Given the description of an element on the screen output the (x, y) to click on. 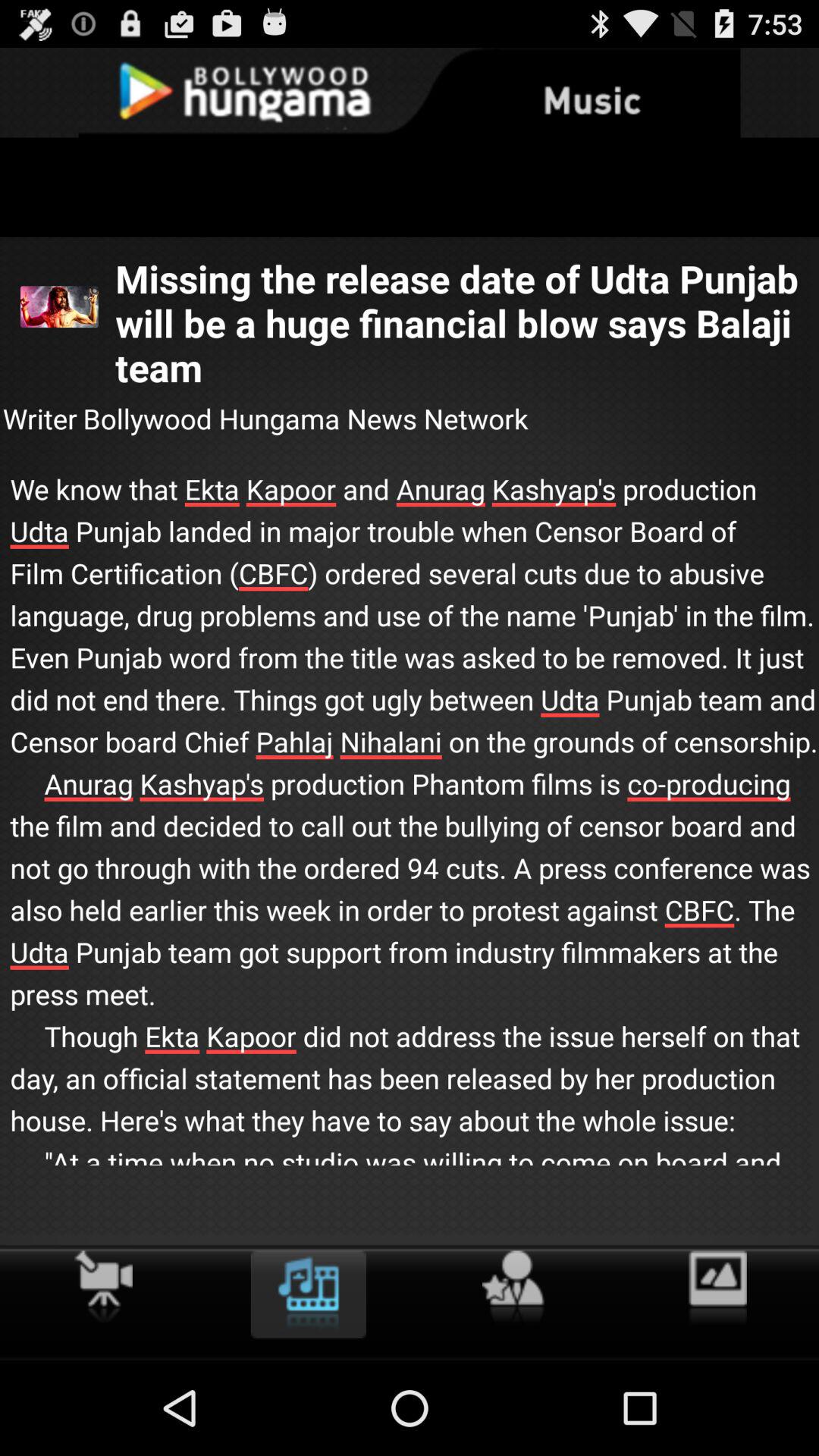
a place to view the media component of the project (307, 1294)
